Given the description of an element on the screen output the (x, y) to click on. 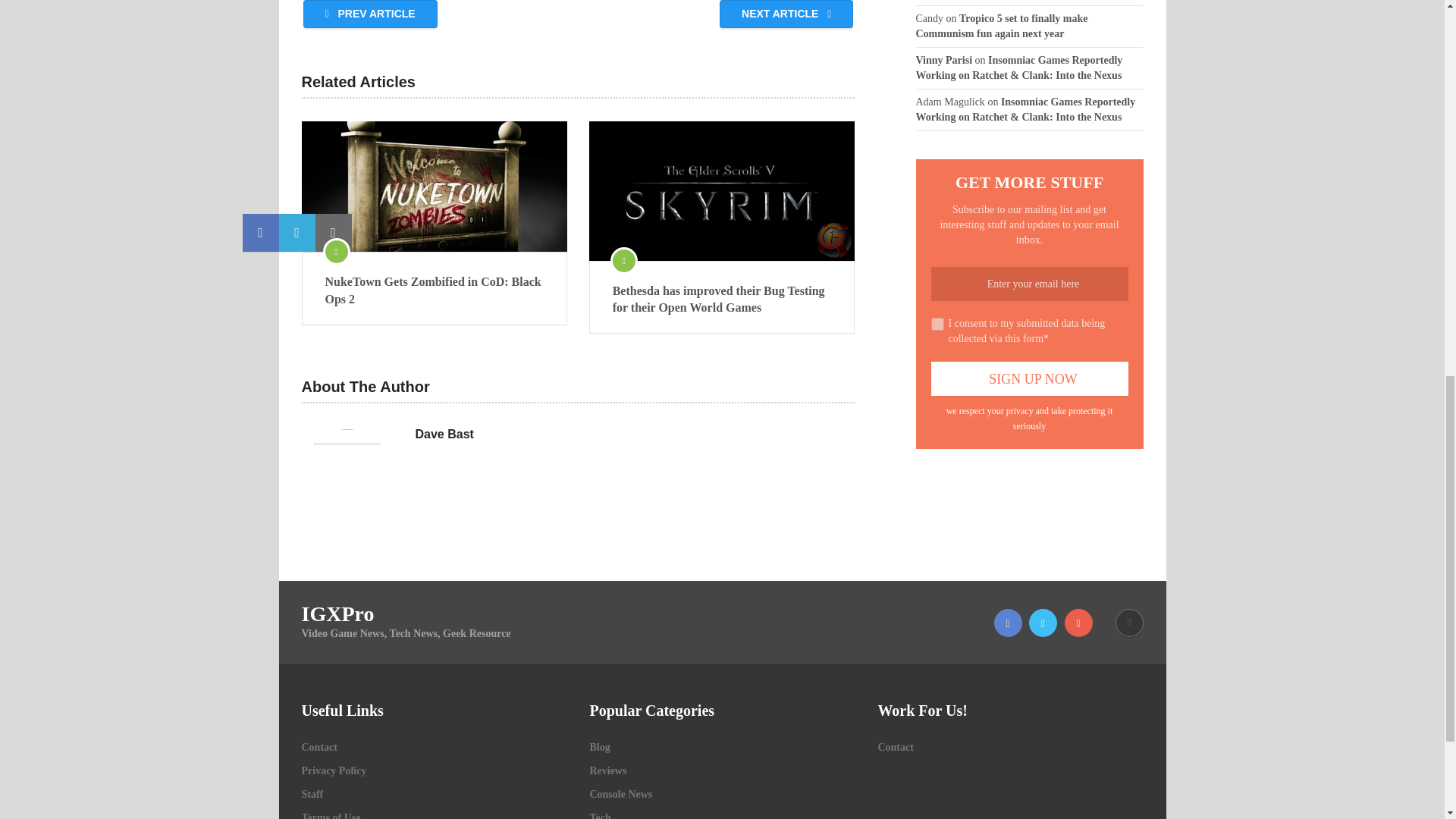
NukeTown Gets Zombified in CoD: Black Ops 2 (434, 186)
NukeTown Gets Zombified in CoD: Black Ops 2 (433, 290)
PREV ARTICLE (370, 13)
Sign Up Now (1029, 378)
on (937, 323)
